Given the description of an element on the screen output the (x, y) to click on. 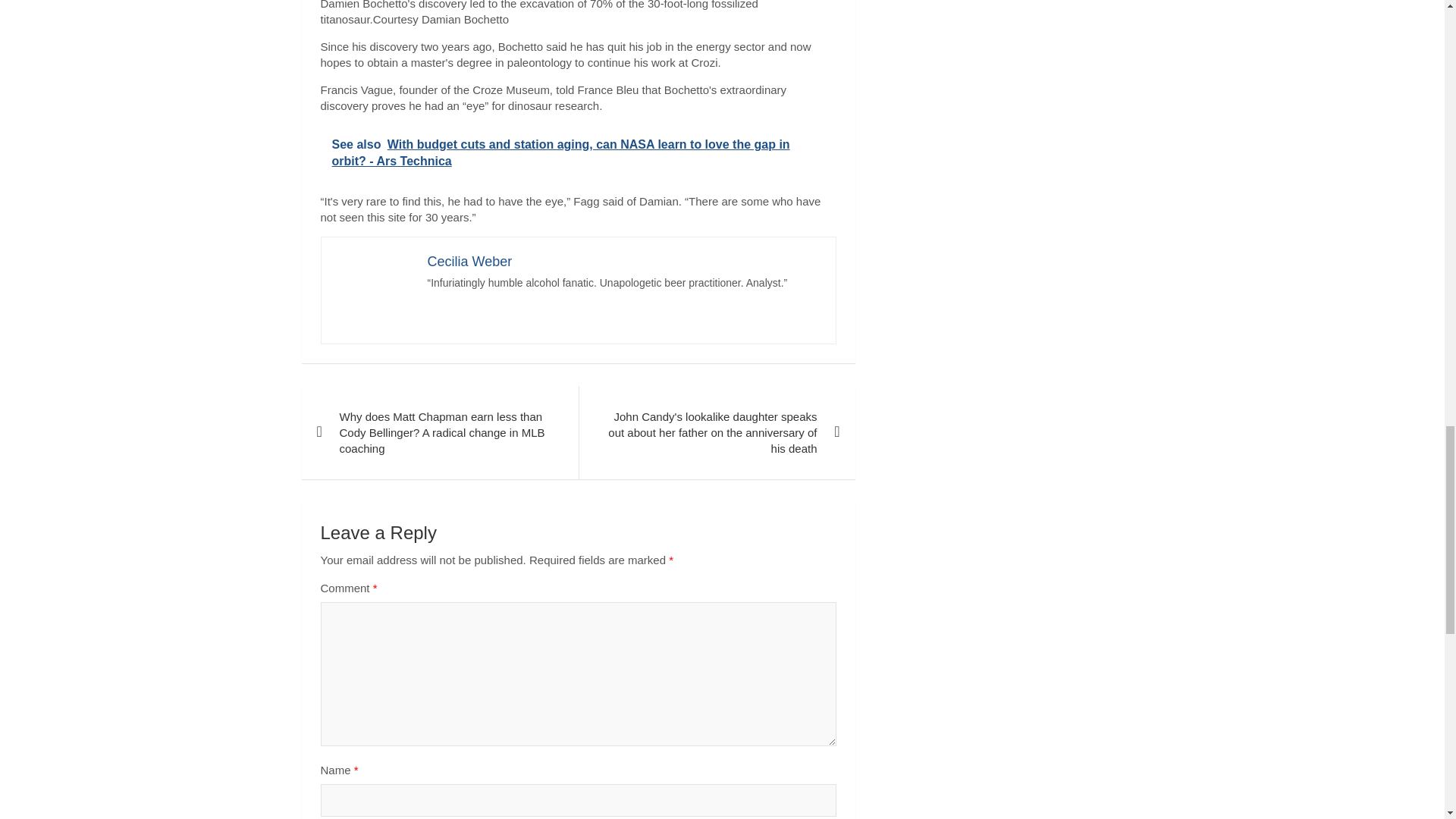
Cecilia Weber (470, 261)
